Given the description of an element on the screen output the (x, y) to click on. 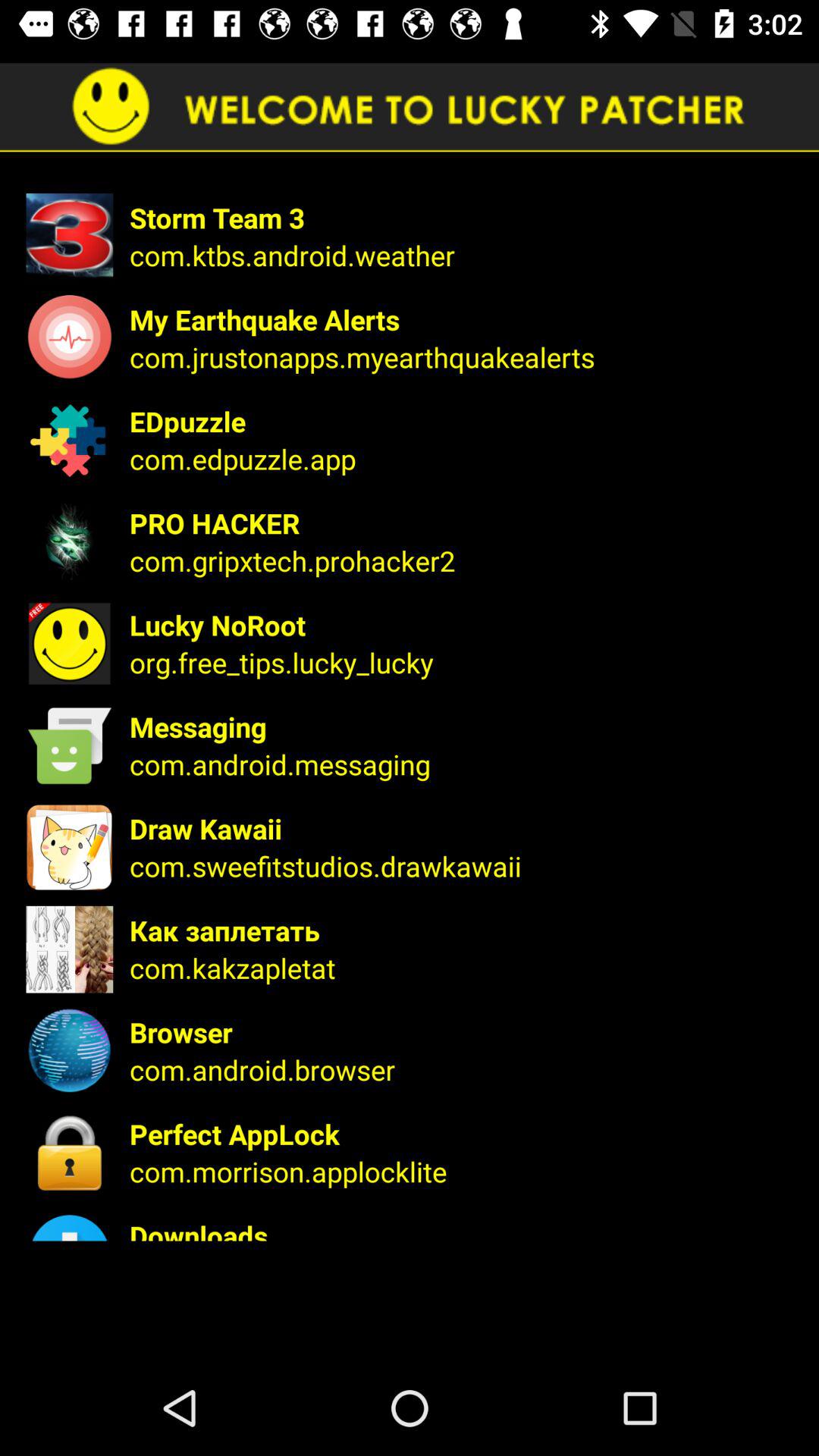
flip to perfect applock icon (464, 1133)
